Given the description of an element on the screen output the (x, y) to click on. 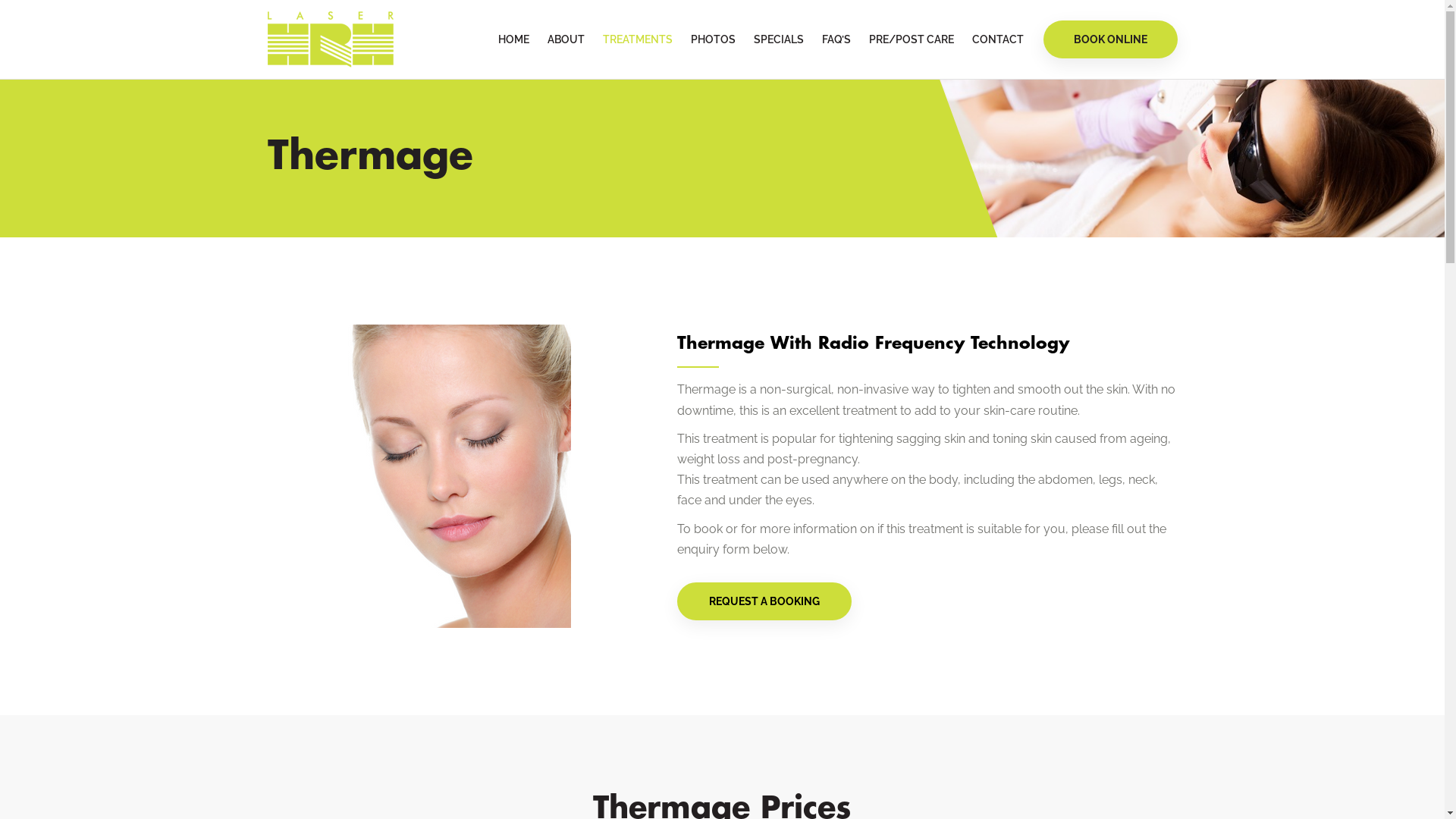
BOOK ONLINE Element type: text (1110, 39)
ABOUT Element type: text (565, 39)
TREATMENTS Element type: text (636, 39)
HOME Element type: text (512, 39)
Thermage Treatments Element type: hover (418, 475)
SPECIALS Element type: text (778, 39)
REQUEST A BOOKING Element type: text (764, 601)
PHOTOS Element type: text (711, 39)
PRE/POST CARE Element type: text (911, 39)
CONTACT Element type: text (997, 39)
